Given the description of an element on the screen output the (x, y) to click on. 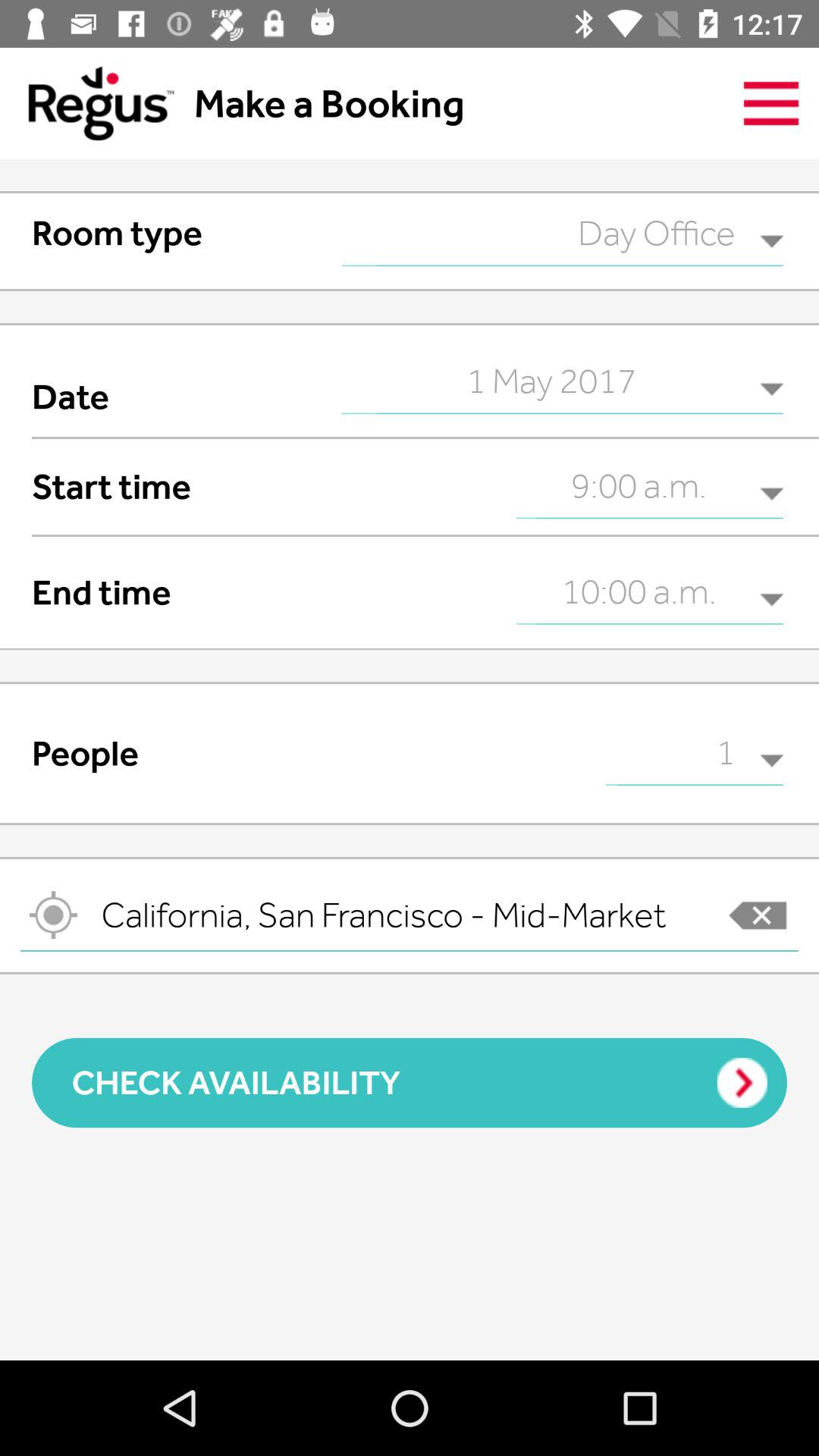
return to the main screen (87, 103)
